Given the description of an element on the screen output the (x, y) to click on. 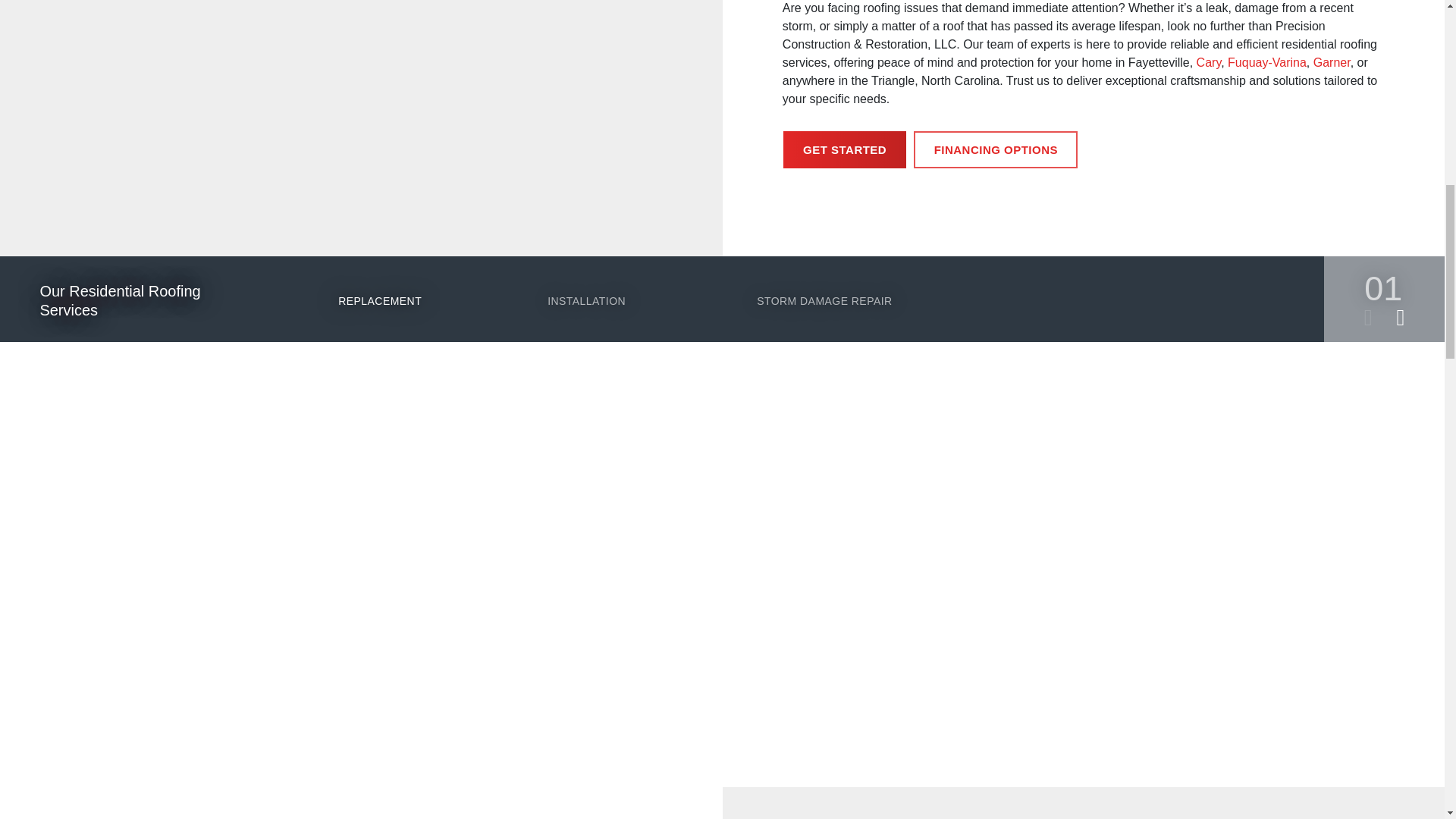
Fuquay-Varina (1266, 63)
Garner (1332, 63)
Cary (1208, 63)
